Given the description of an element on the screen output the (x, y) to click on. 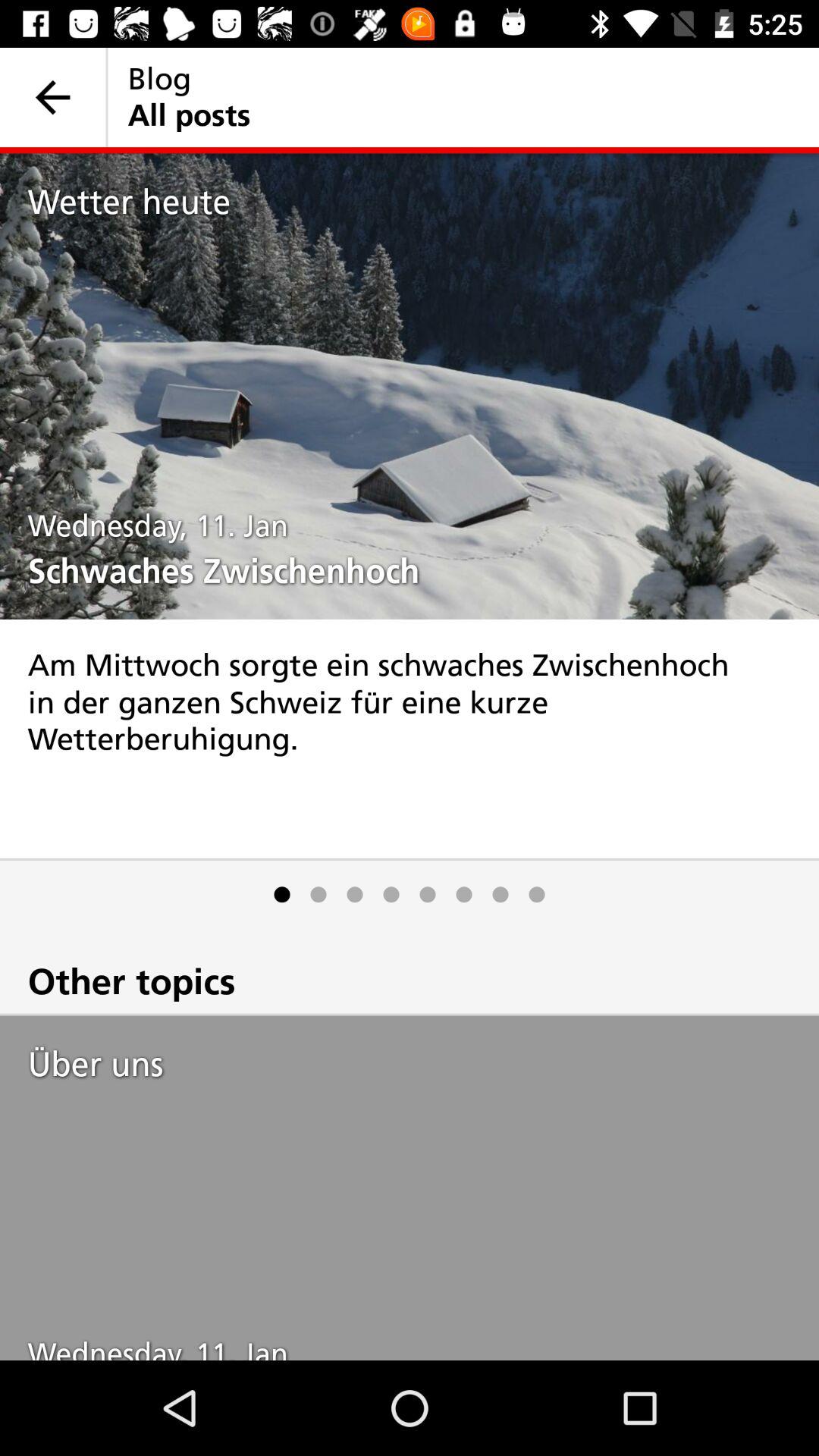
turn off icon above other topics item (391, 894)
